Given the description of an element on the screen output the (x, y) to click on. 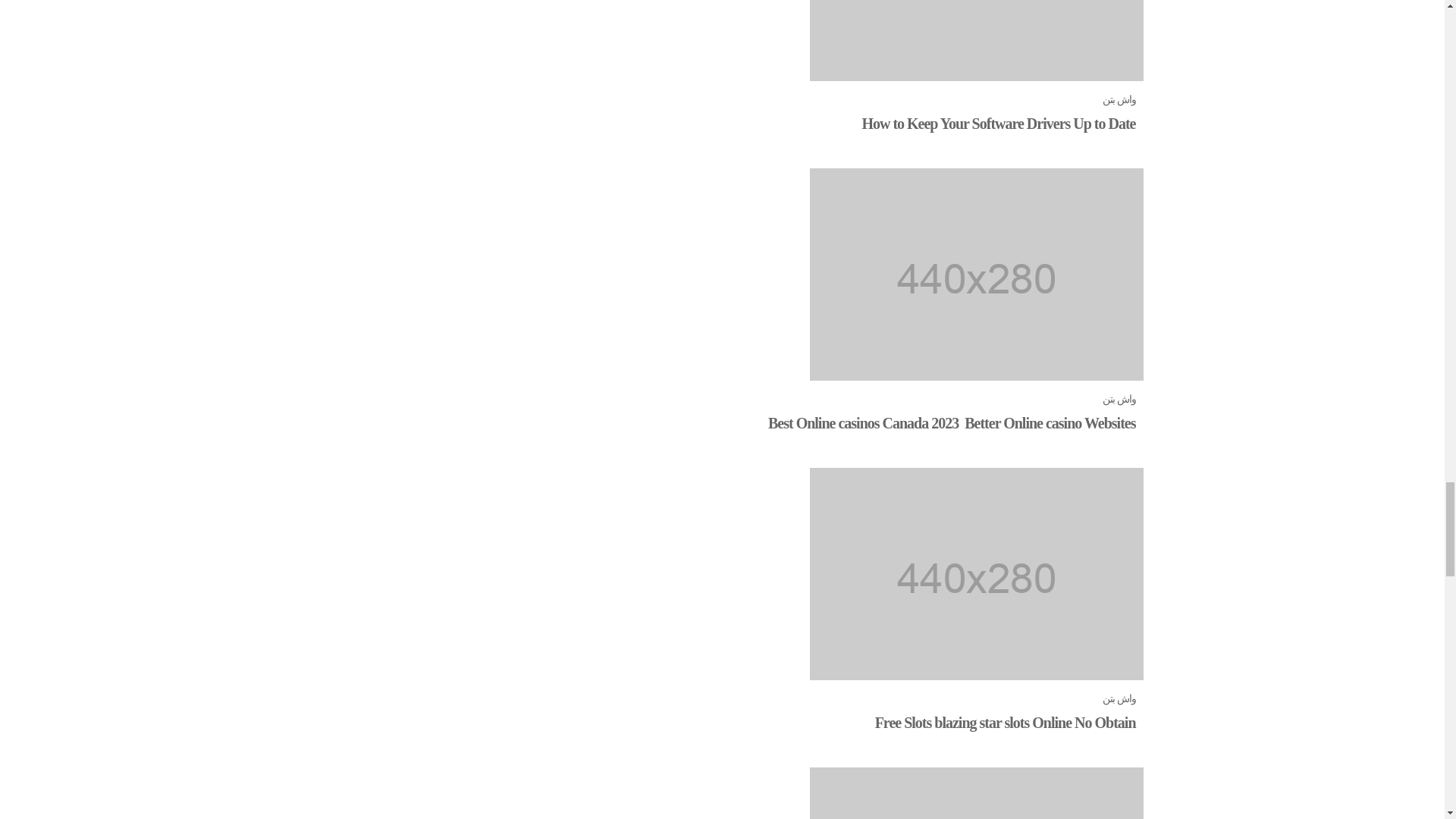
How to Keep Your Software Drivers Up to Date (998, 123)
